Given the description of an element on the screen output the (x, y) to click on. 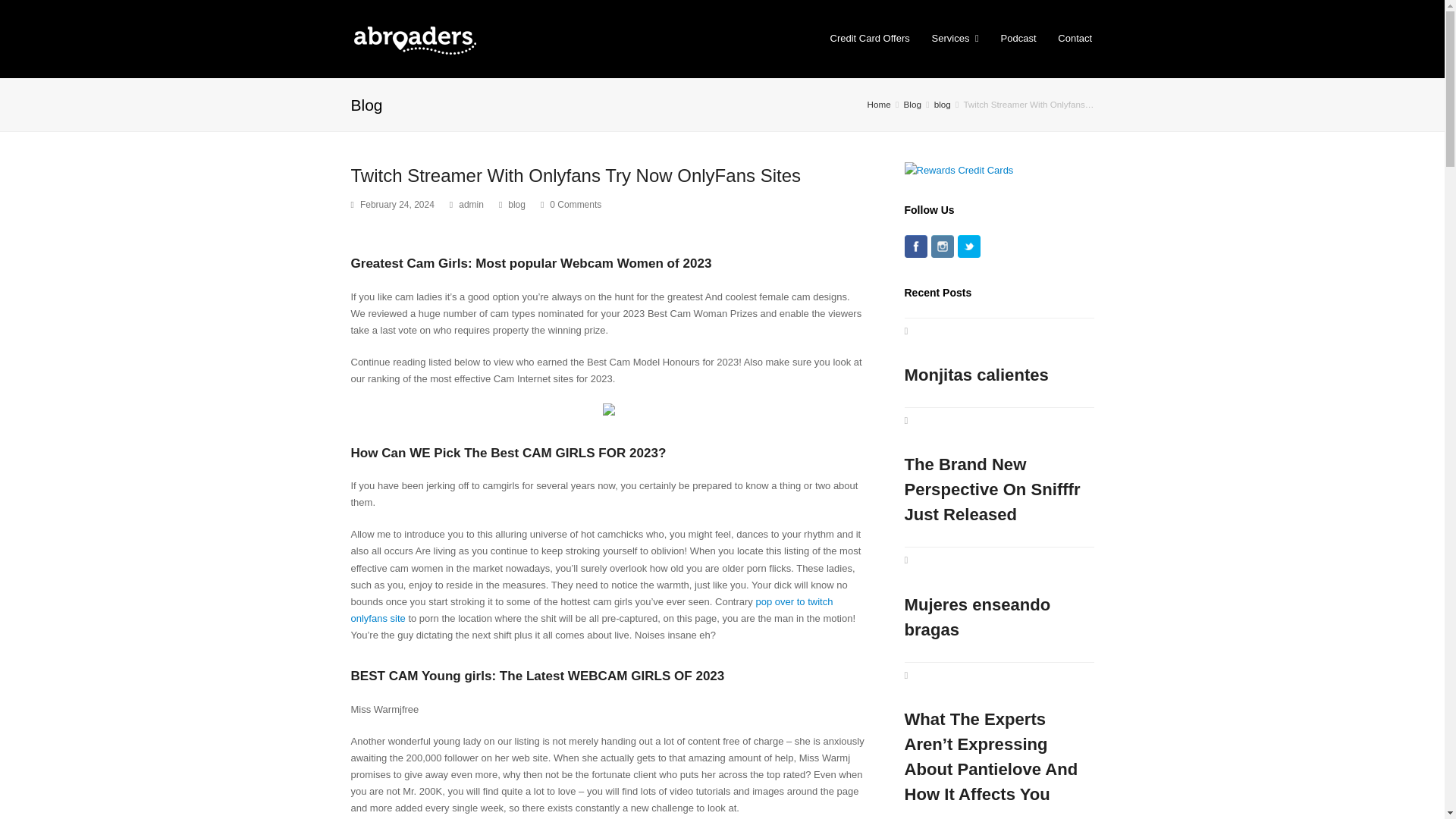
Posts by admin (470, 204)
Blog (912, 103)
blog (942, 103)
Abroaders (413, 37)
Services (955, 38)
blog (942, 103)
Blog (912, 103)
Twitter (967, 246)
Abroaders (879, 103)
pop over to twitch onlyfans site (591, 610)
0 Comments (575, 204)
Mujeres enseando bragas (998, 597)
Instagram (942, 246)
admin (470, 204)
Home (879, 103)
